Given the description of an element on the screen output the (x, y) to click on. 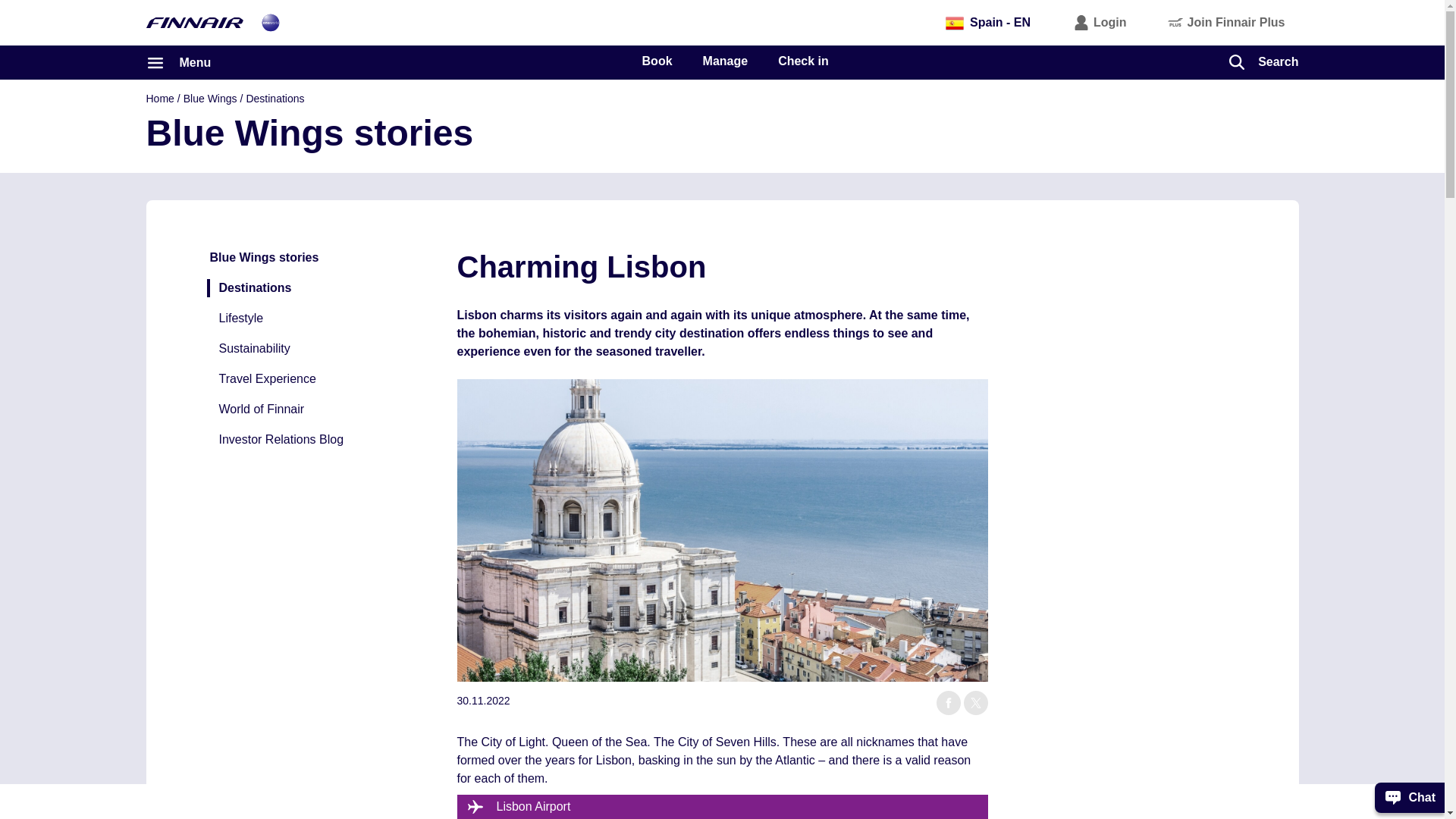
Login (1100, 22)
Check in (802, 61)
Menu (178, 62)
Spain - EN (988, 22)
Search (1262, 61)
Book (657, 61)
Join Finnair Plus (1227, 22)
Manage (725, 61)
